Given the description of an element on the screen output the (x, y) to click on. 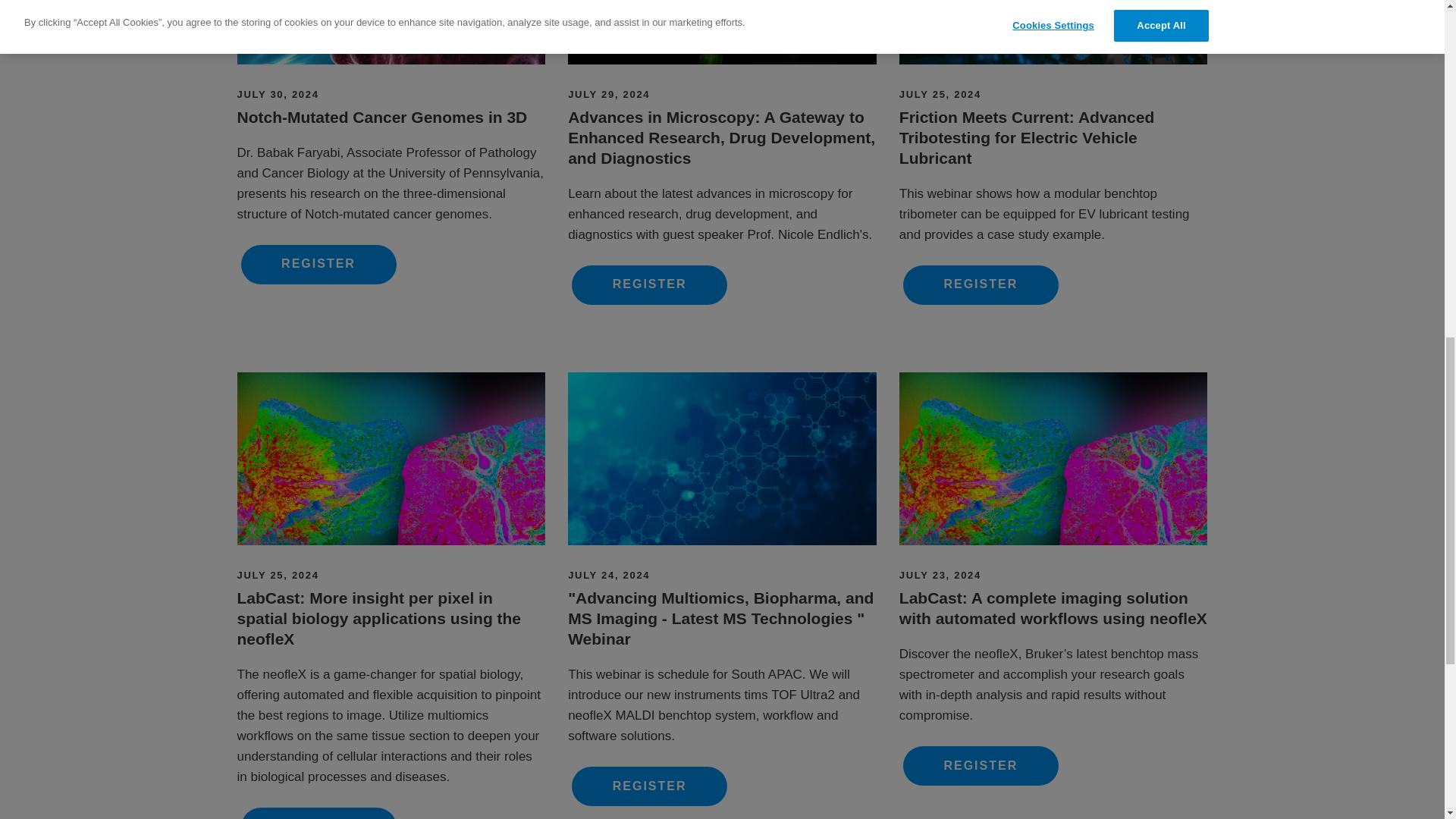
REGISTER (318, 264)
REGISTER (649, 284)
